Given the description of an element on the screen output the (x, y) to click on. 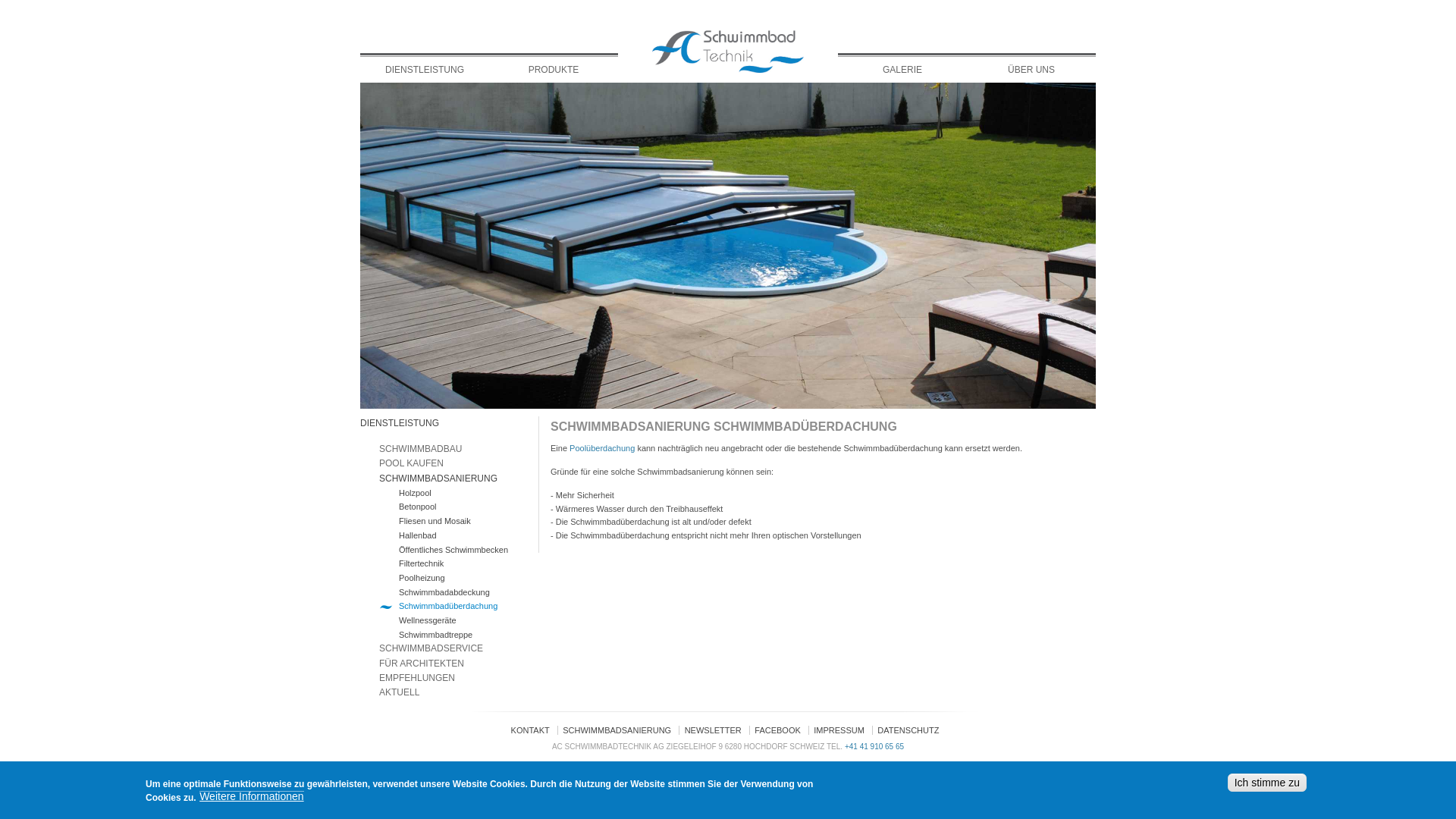
Betonpool Element type: text (417, 506)
Holzpool Element type: text (414, 492)
AKTUELL Element type: text (399, 692)
EMPFEHLUNGEN Element type: text (417, 677)
DIENSTLEISTUNG Element type: text (399, 422)
+41 41 910 65 65 Element type: text (873, 746)
Schwimmbadtreppe Element type: text (435, 634)
Ich stimme zu Element type: text (1266, 782)
Direkt zum Inhalt Element type: text (45, 0)
Filtertechnik Element type: text (420, 562)
SCHWIMMBADSANIERUNG Element type: text (620, 729)
Poolheizung Element type: text (421, 577)
SCHWIMMBADBAU Element type: text (420, 448)
DATENSCHUTZ Element type: text (910, 729)
SCHWIMMBADSANIERUNG Element type: text (438, 478)
SCHWIMMBADSERVICE Element type: text (431, 648)
KONTAKT Element type: text (533, 729)
POOL KAUFEN Element type: text (411, 463)
PRODUKTE Element type: text (553, 69)
Weitere Informationen Element type: text (251, 795)
Fliesen und Mosaik Element type: text (434, 520)
FACEBOOK Element type: text (781, 729)
NEWSLETTER Element type: text (716, 729)
DIENSTLEISTUNG Element type: text (424, 69)
IMPRESSUM Element type: text (842, 729)
Hallenbad Element type: text (417, 534)
GALERIE Element type: text (902, 69)
Schwimmbadabdeckung Element type: text (443, 591)
